Given the description of an element on the screen output the (x, y) to click on. 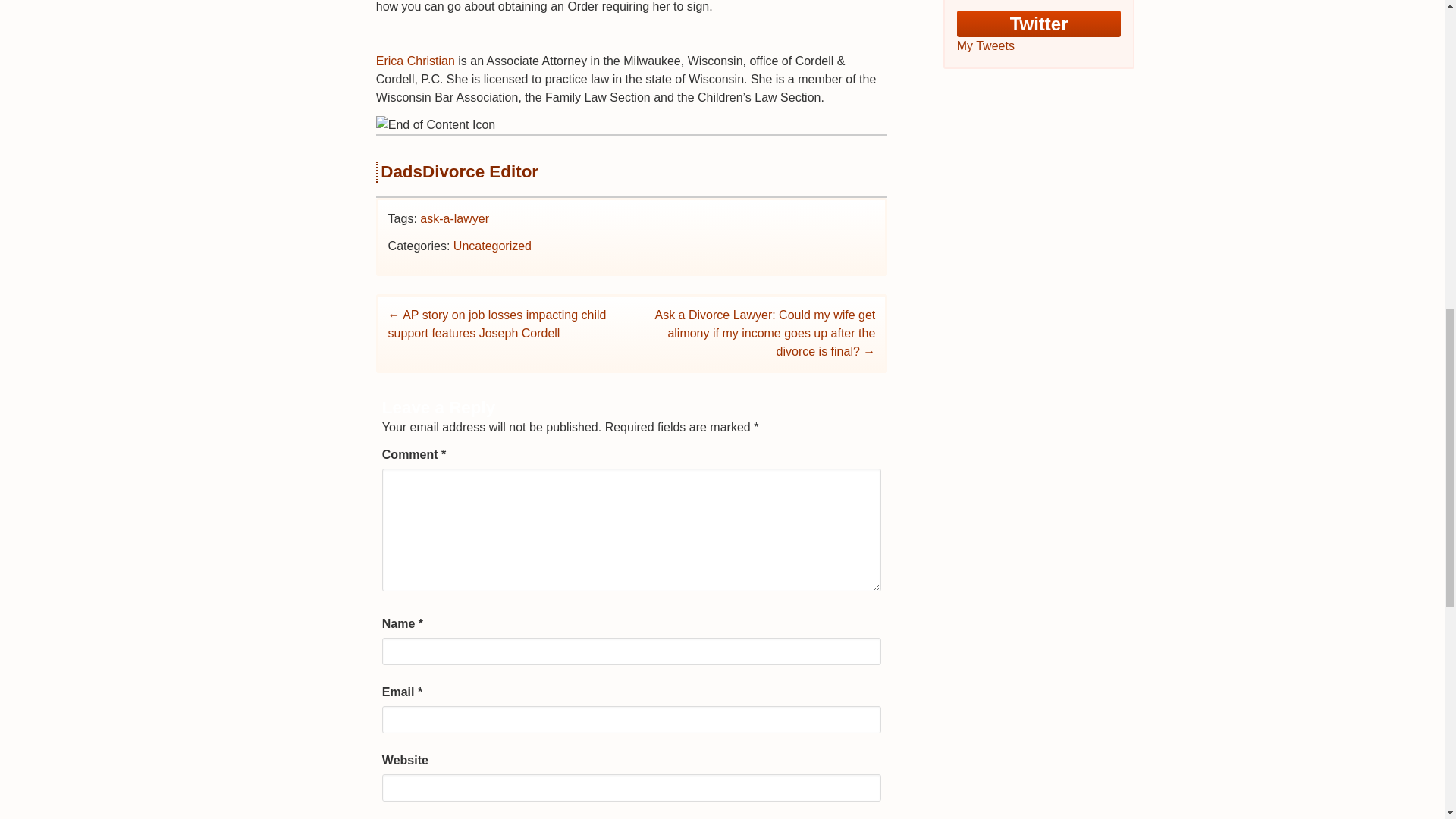
All posts by DadsDivorce Editor (459, 171)
Erica Christian's biography (414, 60)
Uncategorized (491, 245)
Erica Christian (414, 60)
ask-a-lawyer (454, 218)
DadsDivorce Editor (459, 171)
